Given the description of an element on the screen output the (x, y) to click on. 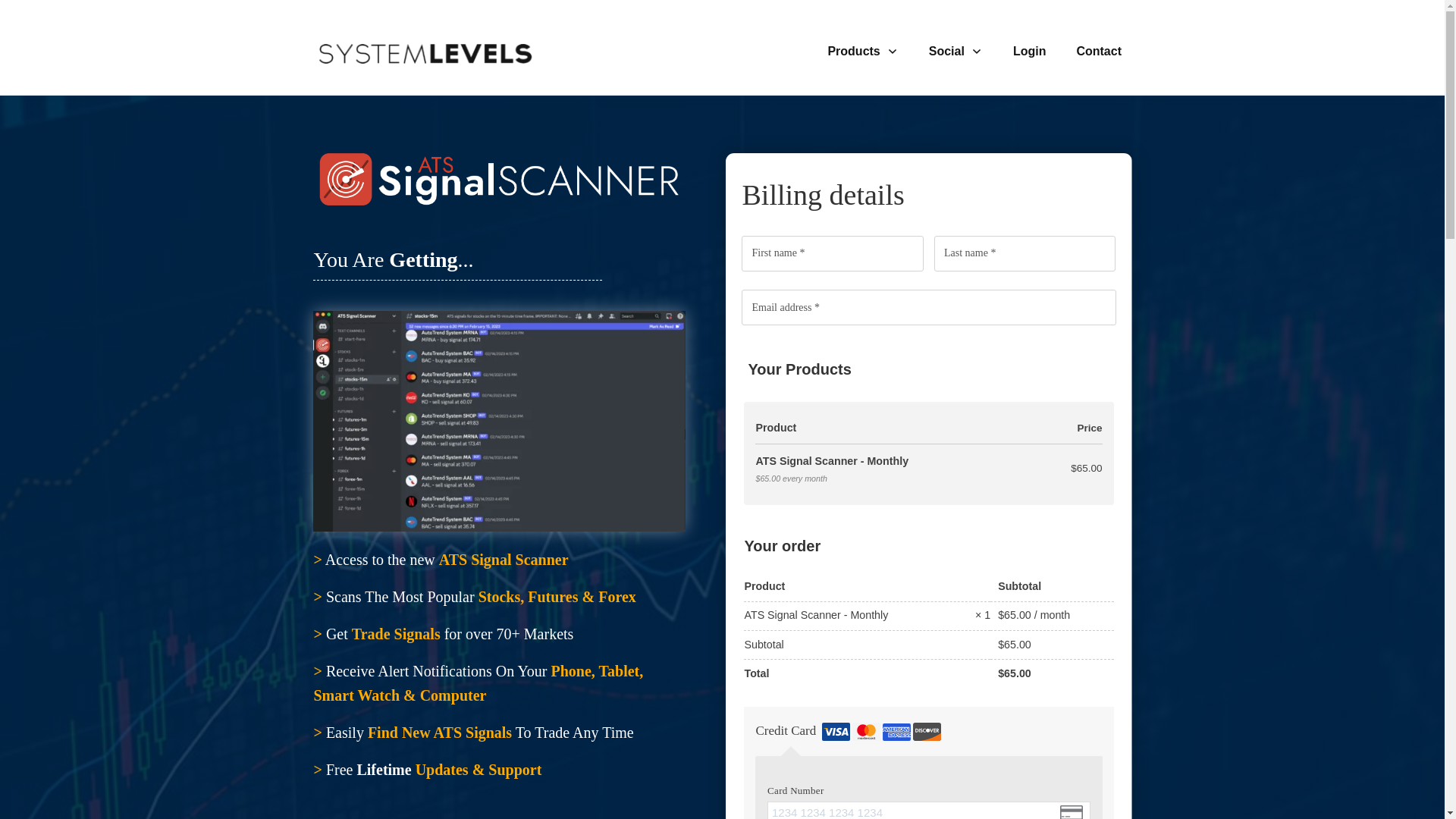
Contact (1098, 51)
Secure card number input frame (928, 812)
Login (1029, 51)
Products (862, 51)
Social (955, 51)
